Given the description of an element on the screen output the (x, y) to click on. 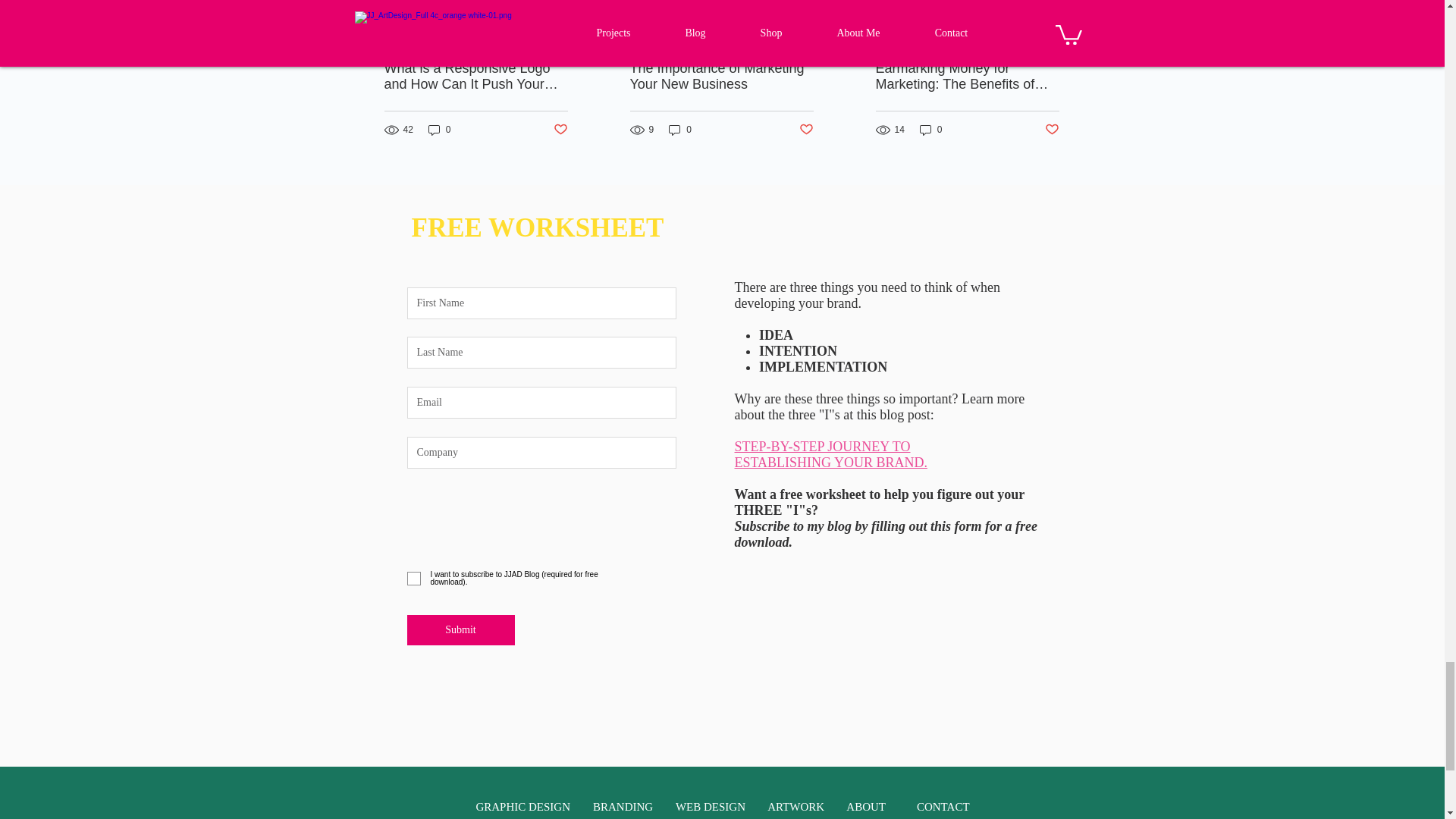
0 (439, 129)
Post not marked as liked (560, 130)
0 (679, 129)
The Importance of Marketing Your New Business (720, 76)
